Given the description of an element on the screen output the (x, y) to click on. 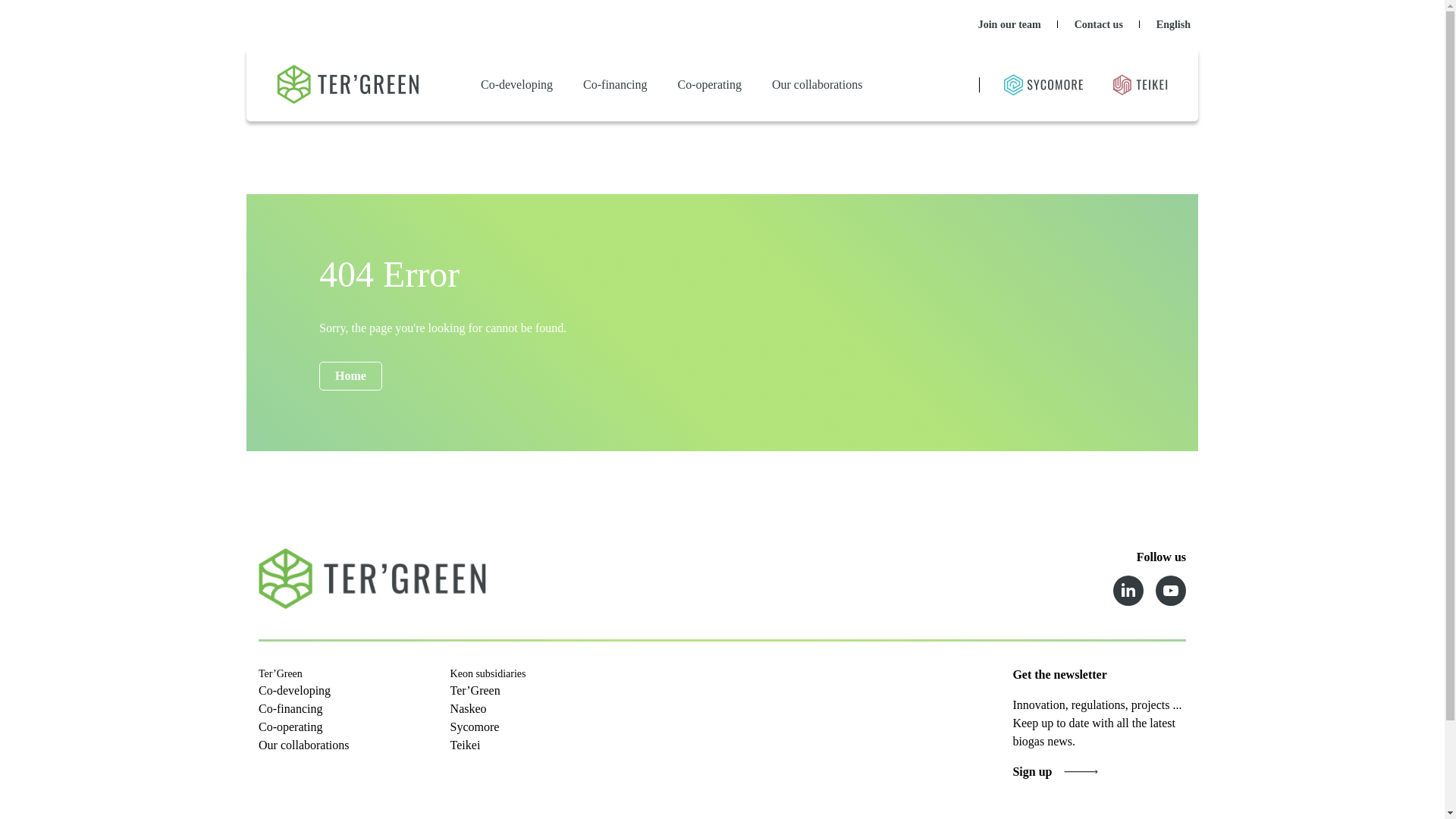
LinkedIn (1127, 590)
Contact us (1099, 24)
English (1173, 24)
Co-developing (516, 84)
Home (349, 375)
Youtube (1171, 590)
Co-financing (614, 84)
Co-operating (709, 84)
Our collaborations (817, 84)
Join our team (1009, 24)
